Given the description of an element on the screen output the (x, y) to click on. 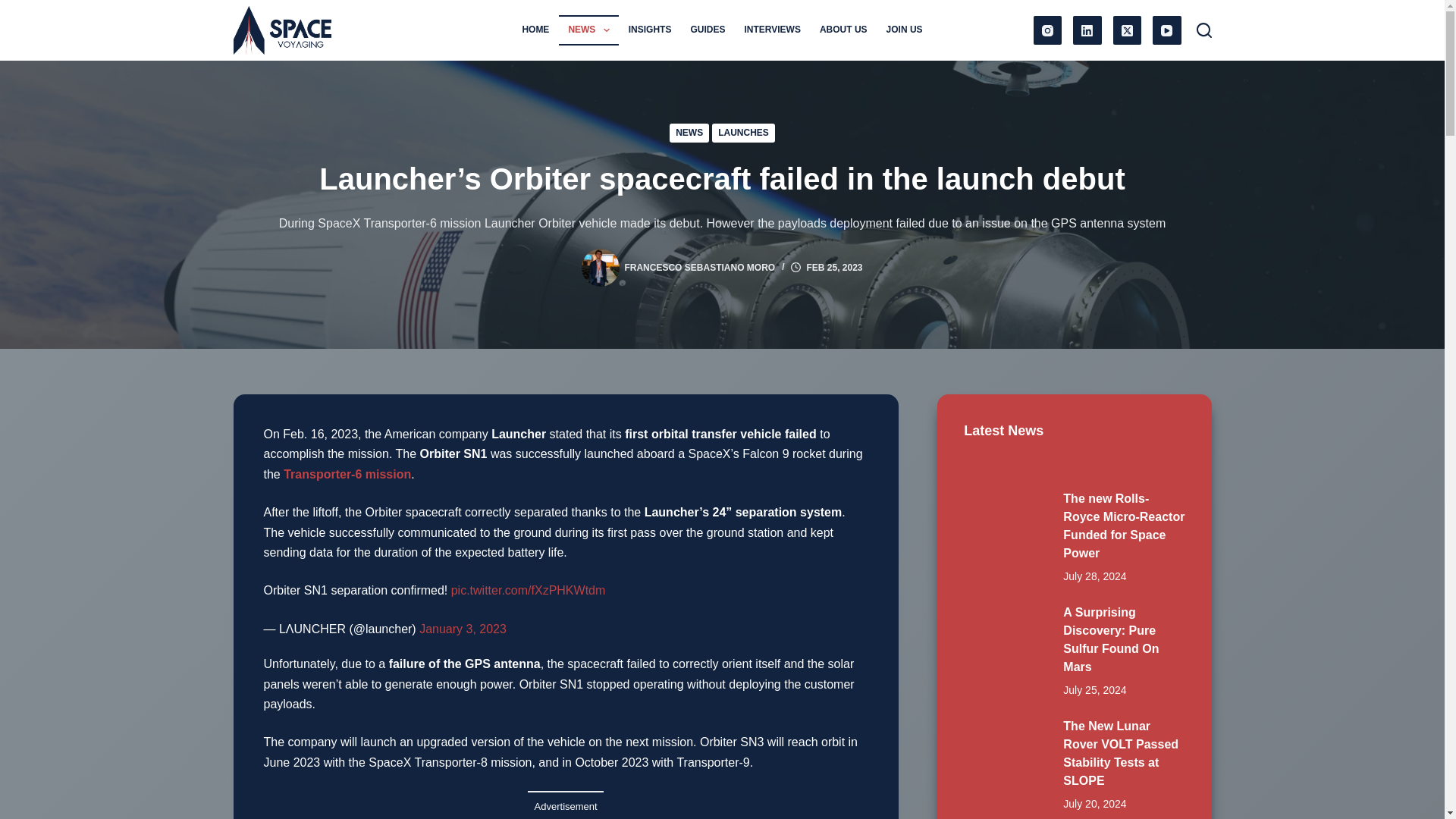
JOIN US (903, 30)
NEWS (588, 30)
INTERVIEWS (772, 30)
Posts by Francesco Sebastiano Moro (699, 267)
Skip to content (15, 7)
SpaceX deployed 114 payloads in the Transporter-6 Mission (346, 473)
HOME (535, 30)
GUIDES (708, 30)
ABOUT US (842, 30)
INSIGHTS (649, 30)
